Given the description of an element on the screen output the (x, y) to click on. 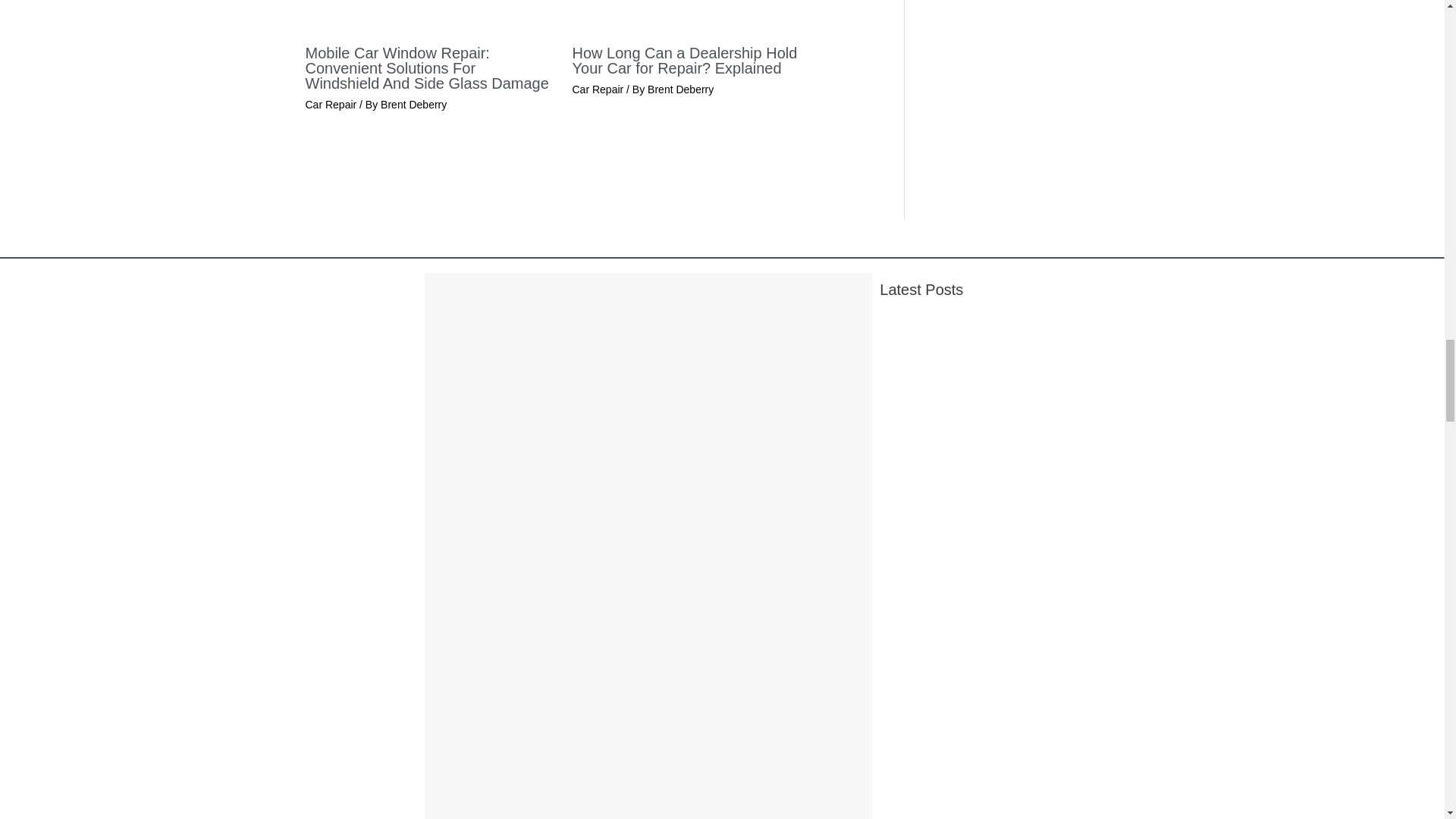
View all posts by Brent Deberry (680, 89)
View all posts by Brent Deberry (413, 104)
